Given the description of an element on the screen output the (x, y) to click on. 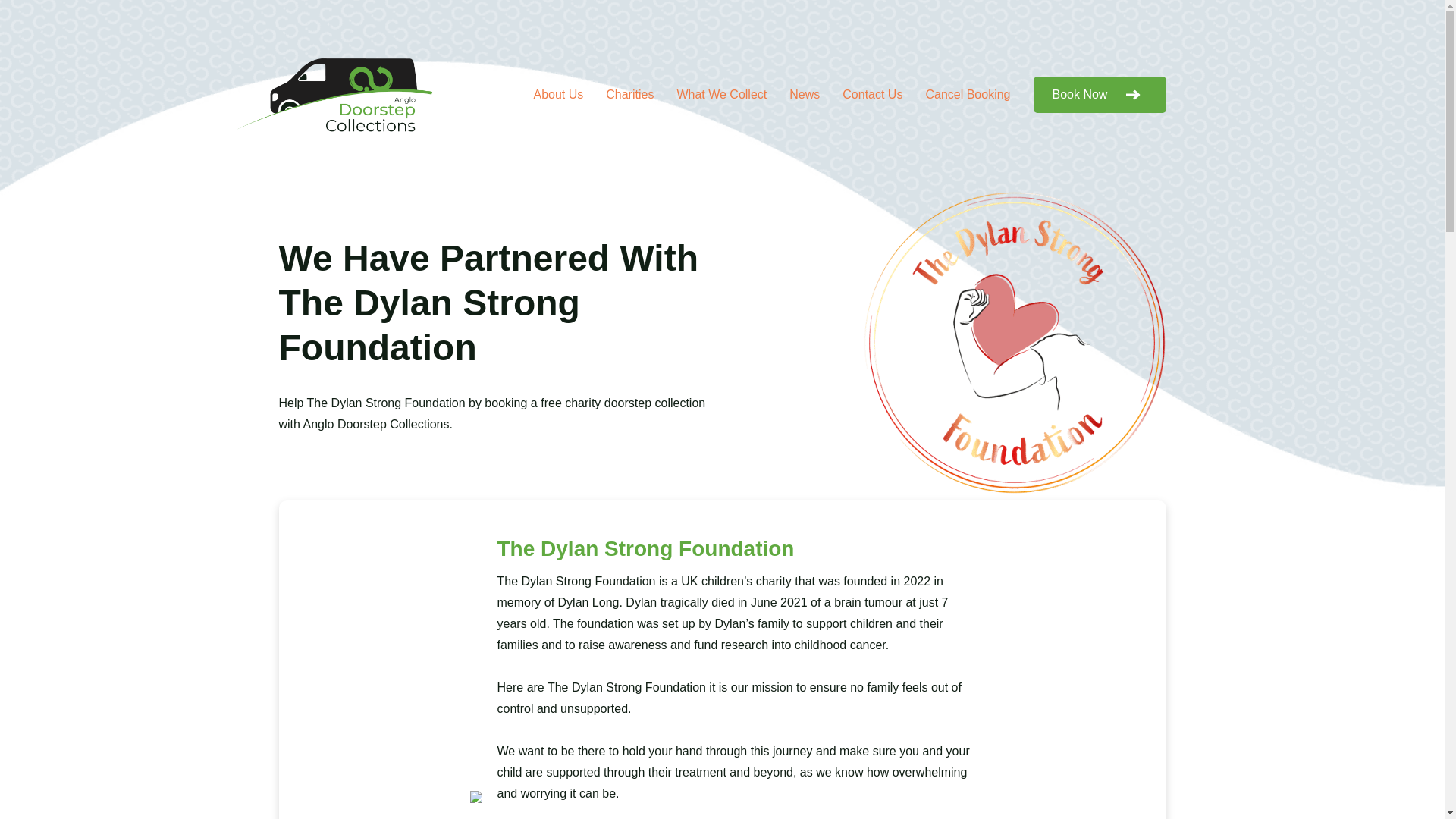
Cancel Booking (967, 93)
What We Collect (722, 93)
Contact Us (872, 93)
Book Now (1099, 94)
News (804, 93)
About Us (557, 93)
Charities (629, 93)
